Given the description of an element on the screen output the (x, y) to click on. 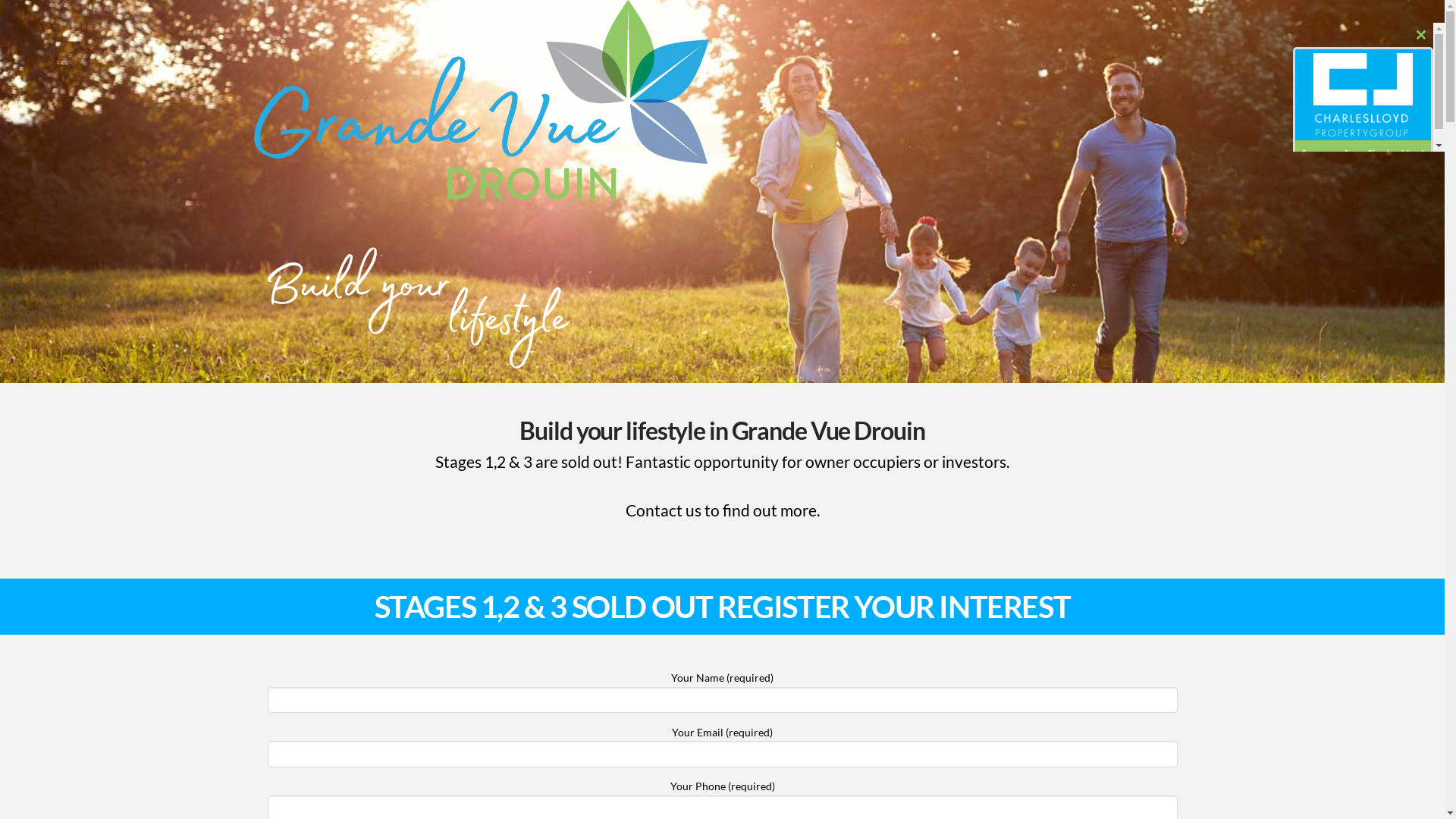
Close this module Element type: text (1420, 34)
See more from Charles Lloyd Element type: text (1362, 152)
